Given the description of an element on the screen output the (x, y) to click on. 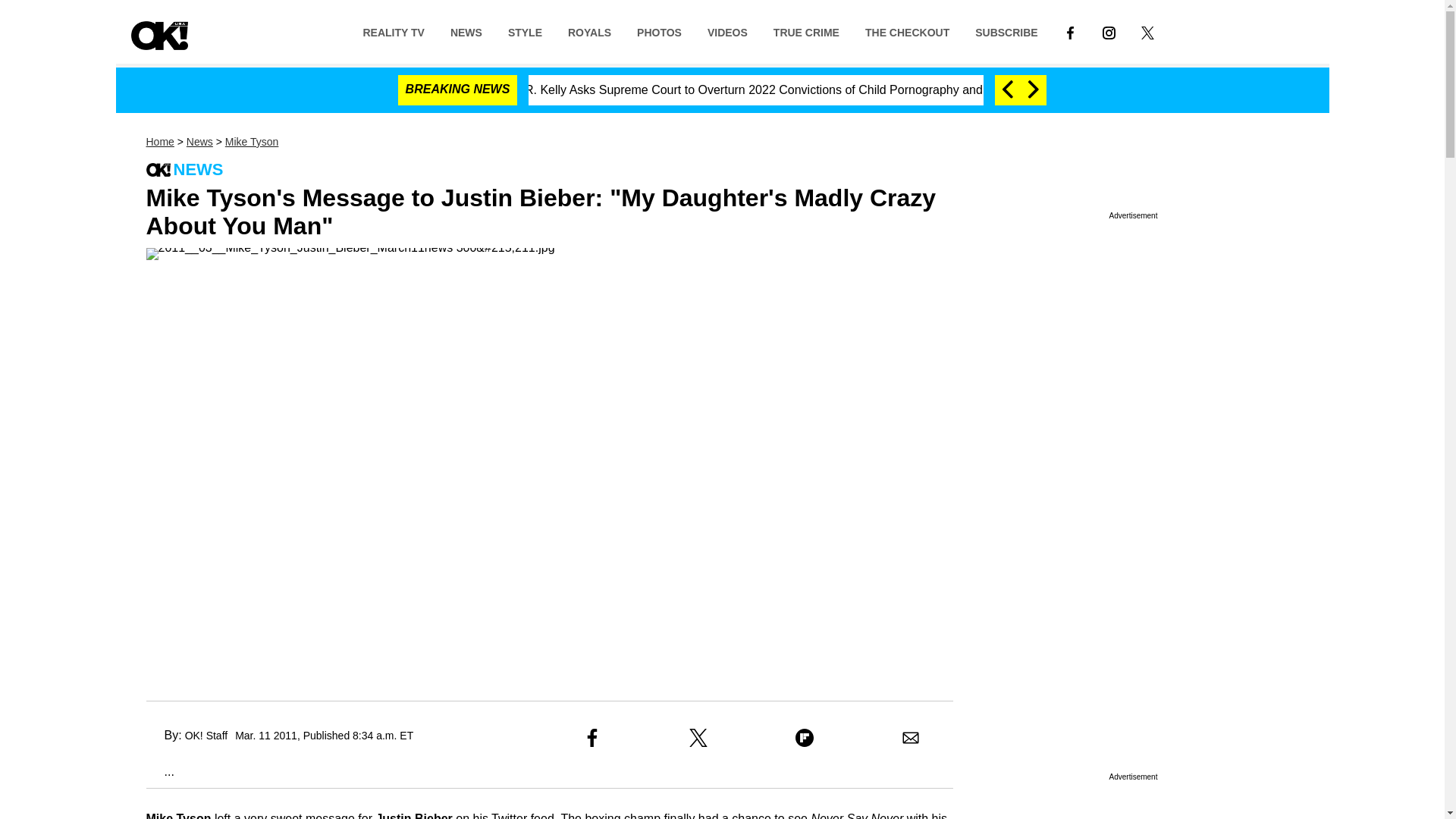
Share to Facebook (590, 737)
Home (159, 141)
LINK TO INSTAGRAM (1108, 32)
Share to X (697, 737)
OK! Staff (206, 735)
NEWS (466, 31)
Mike Tyson (252, 141)
ROYALS (589, 31)
... (159, 771)
Link to Instagram (1108, 31)
Link to Facebook (1070, 31)
LINK TO FACEBOOK (1070, 31)
SUBSCRIBE (1005, 31)
Share to Email (909, 737)
STYLE (524, 31)
